Given the description of an element on the screen output the (x, y) to click on. 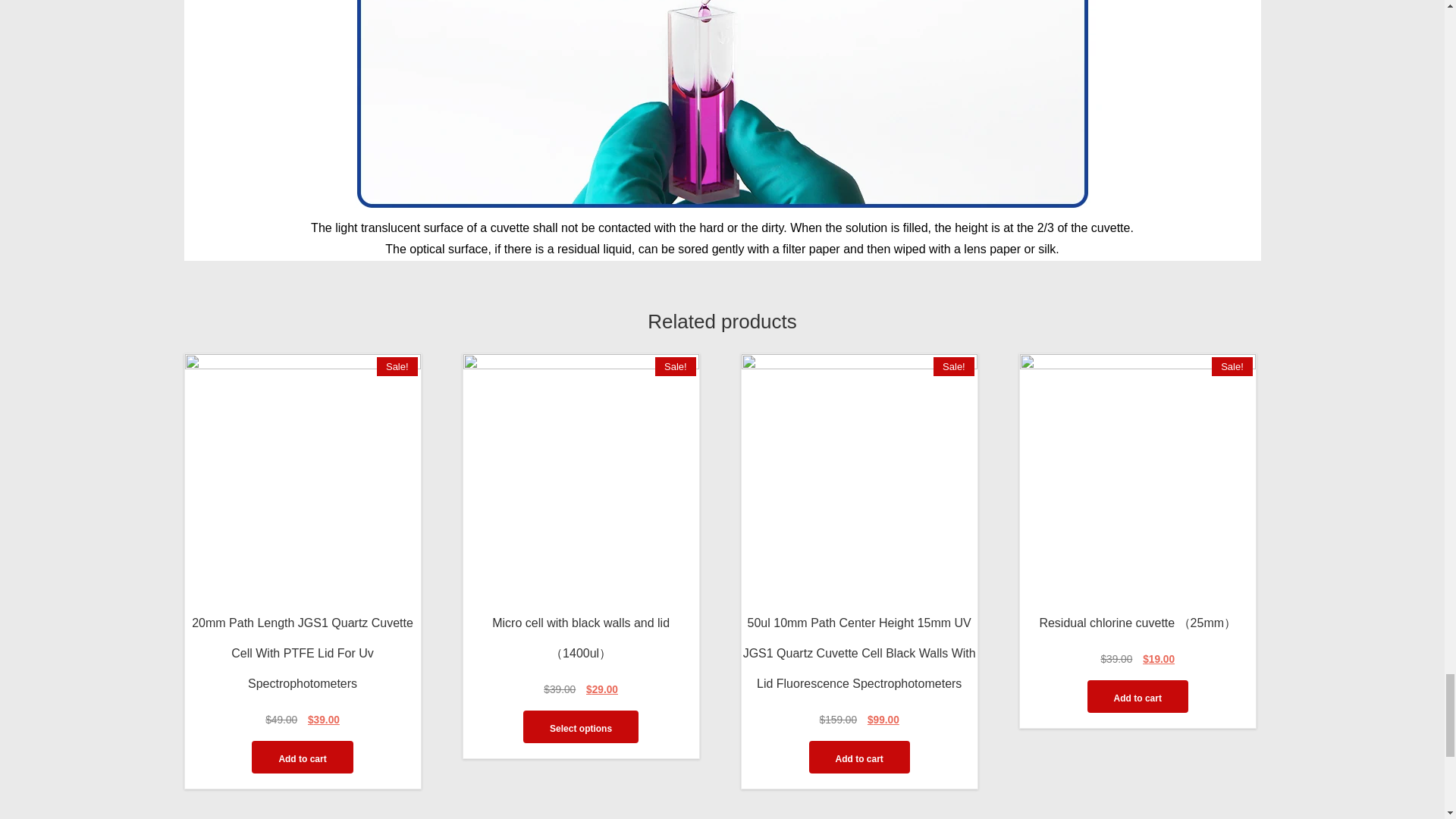
Add to cart (1137, 696)
Add to cart (301, 757)
Select options (580, 726)
Add to cart (858, 757)
